Given the description of an element on the screen output the (x, y) to click on. 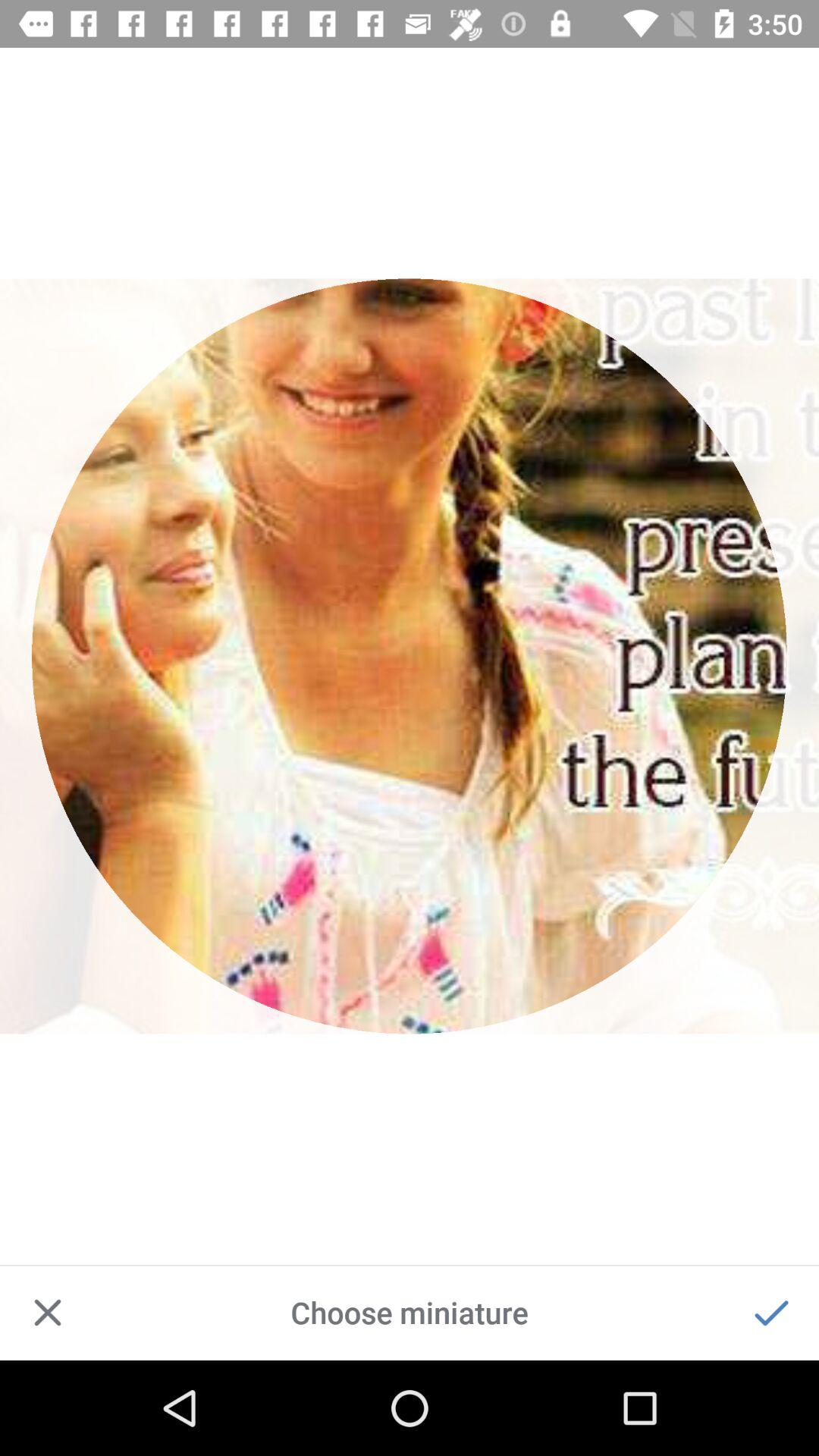
open icon next to the choose miniature item (47, 1312)
